Given the description of an element on the screen output the (x, y) to click on. 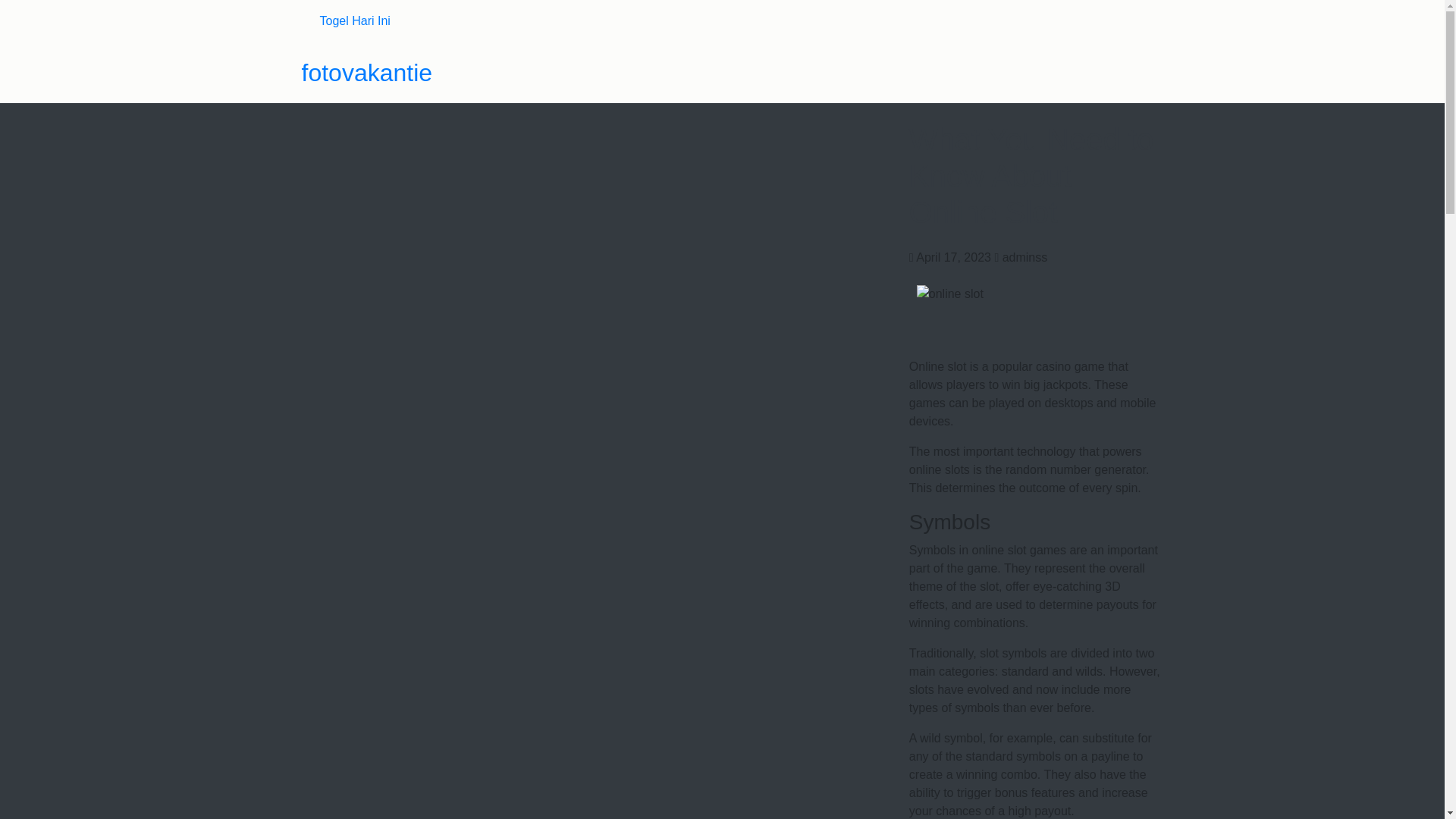
Togel Hari Ini (355, 20)
fotovakantie (366, 72)
Togel Hari Ini (355, 20)
